Given the description of an element on the screen output the (x, y) to click on. 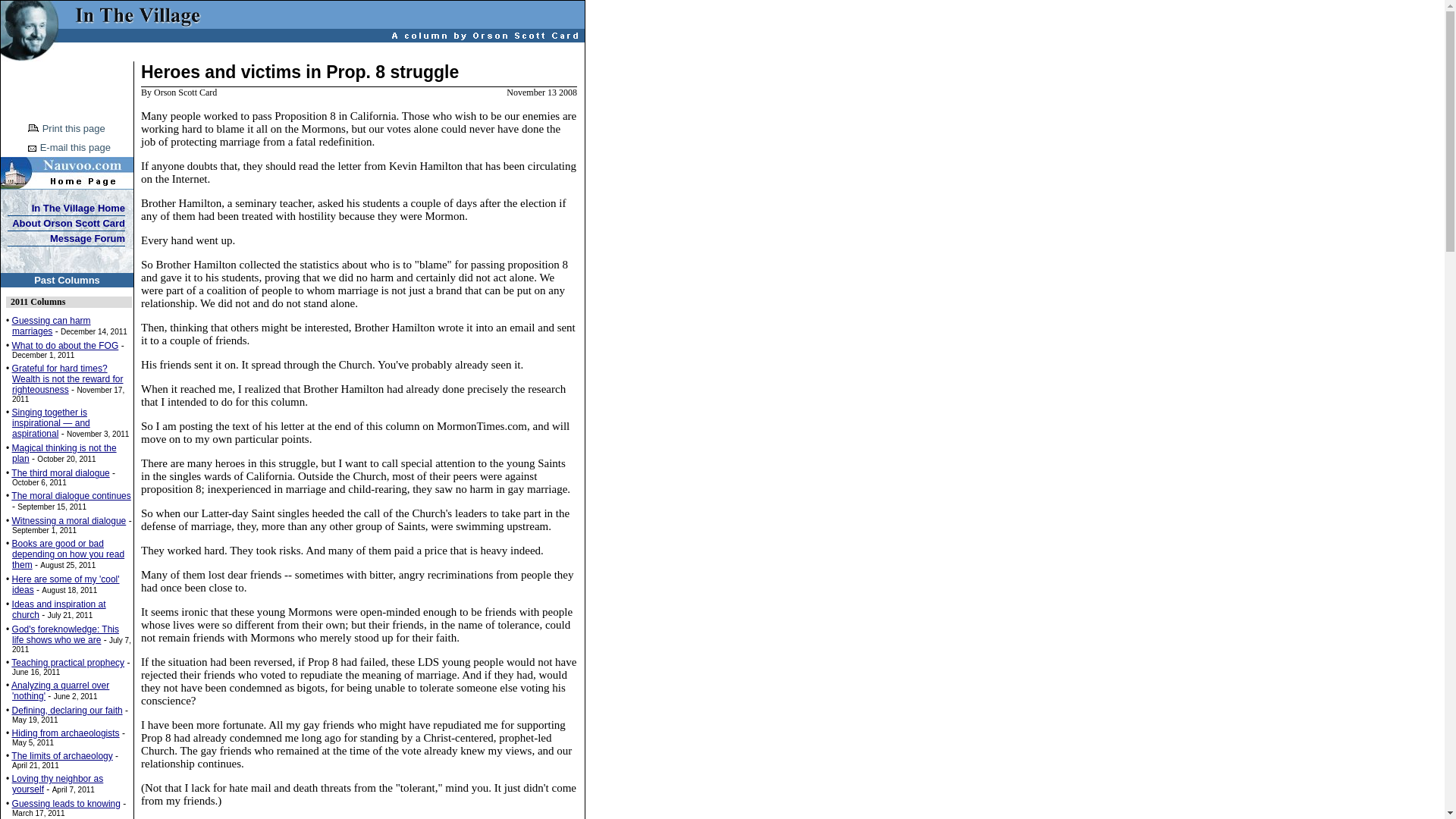
God's foreknowledge: This life shows who we are (65, 634)
Hiding from archaeologists (65, 733)
Message Forum (87, 238)
Magical thinking is not the plan (63, 453)
Defining, declaring our faith (66, 710)
The moral dialogue continues (71, 495)
E-mail this page (75, 146)
About Orson Scott Card (68, 223)
What to do about the FOG (65, 345)
The limits of archaeology (61, 756)
Teaching practical prophecy (67, 662)
The third moral dialogue (60, 472)
Ideas and inspiration at church (58, 608)
Analyzing a quarrel over 'nothing' (60, 690)
